Given the description of an element on the screen output the (x, y) to click on. 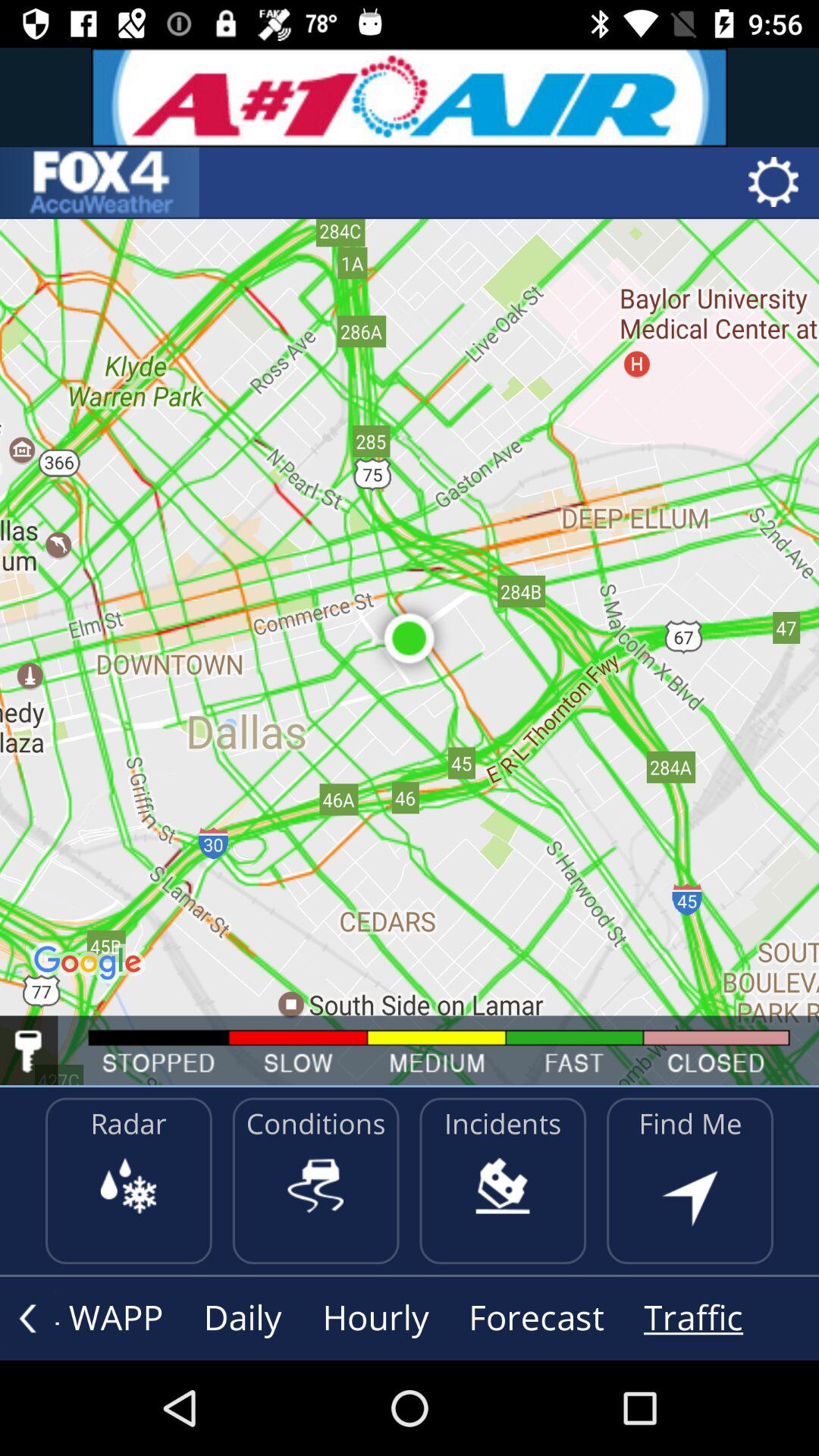
go to previous page (27, 1318)
